Given the description of an element on the screen output the (x, y) to click on. 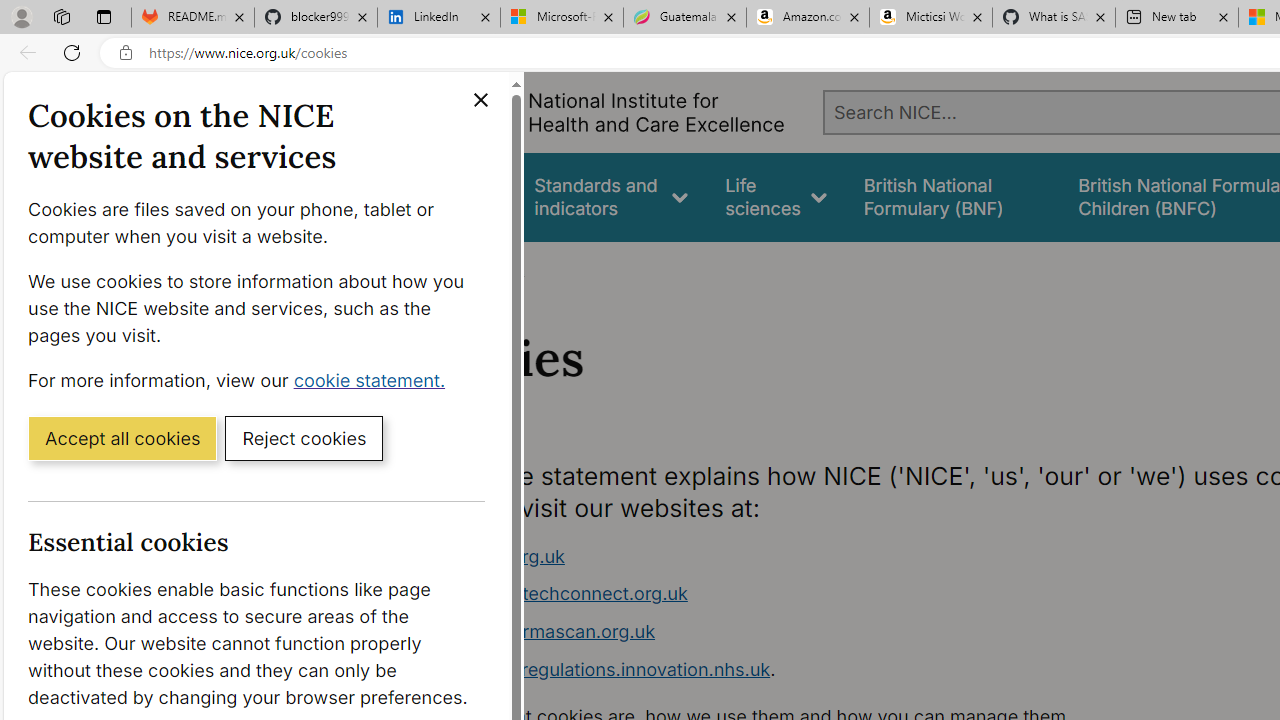
Close cookie banner (480, 99)
false (952, 196)
Life sciences (776, 196)
Guidance (458, 196)
www.healthtechconnect.org.uk (796, 594)
